Given the description of an element on the screen output the (x, y) to click on. 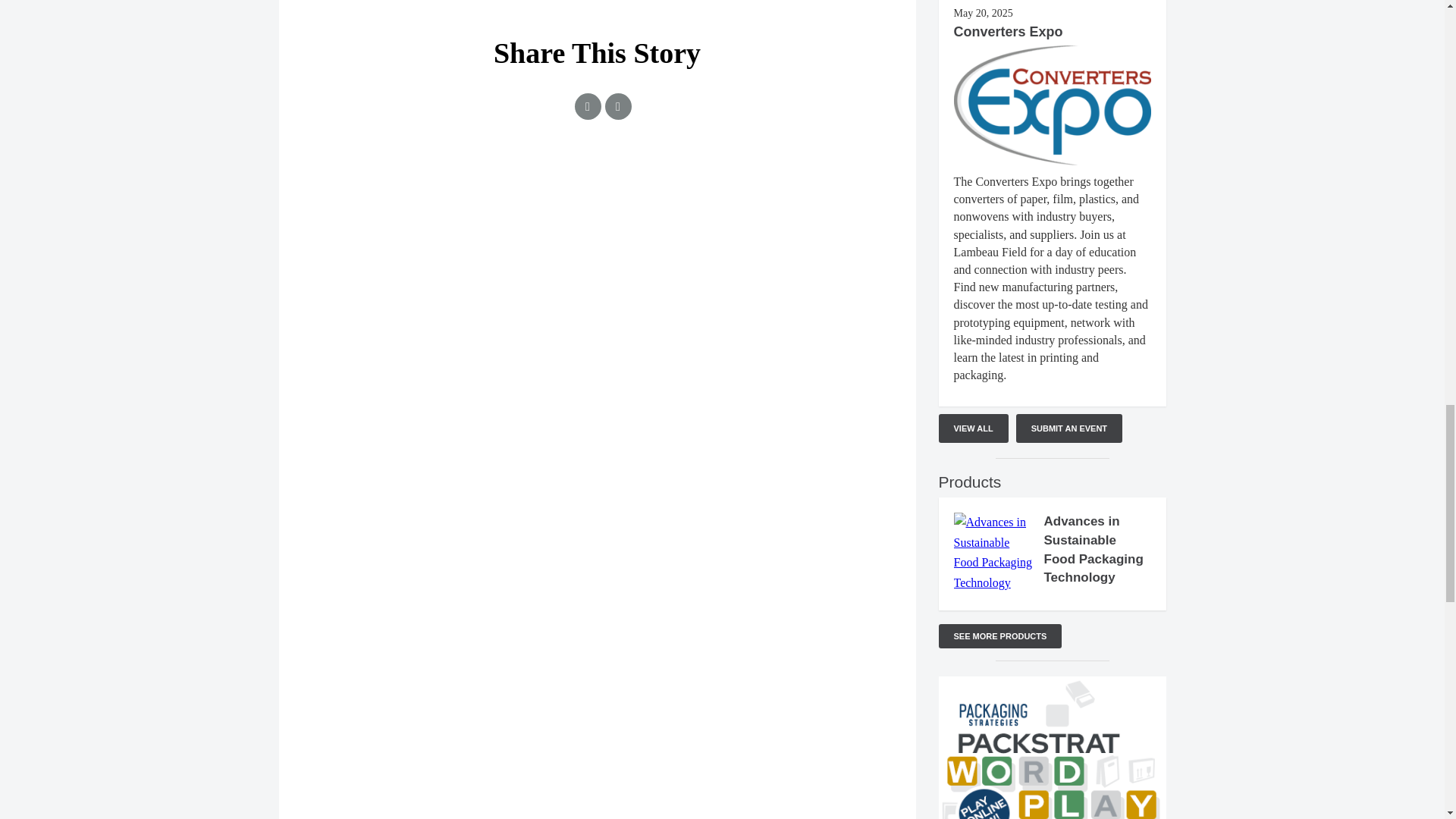
Converters Expo (1007, 31)
